Given the description of an element on the screen output the (x, y) to click on. 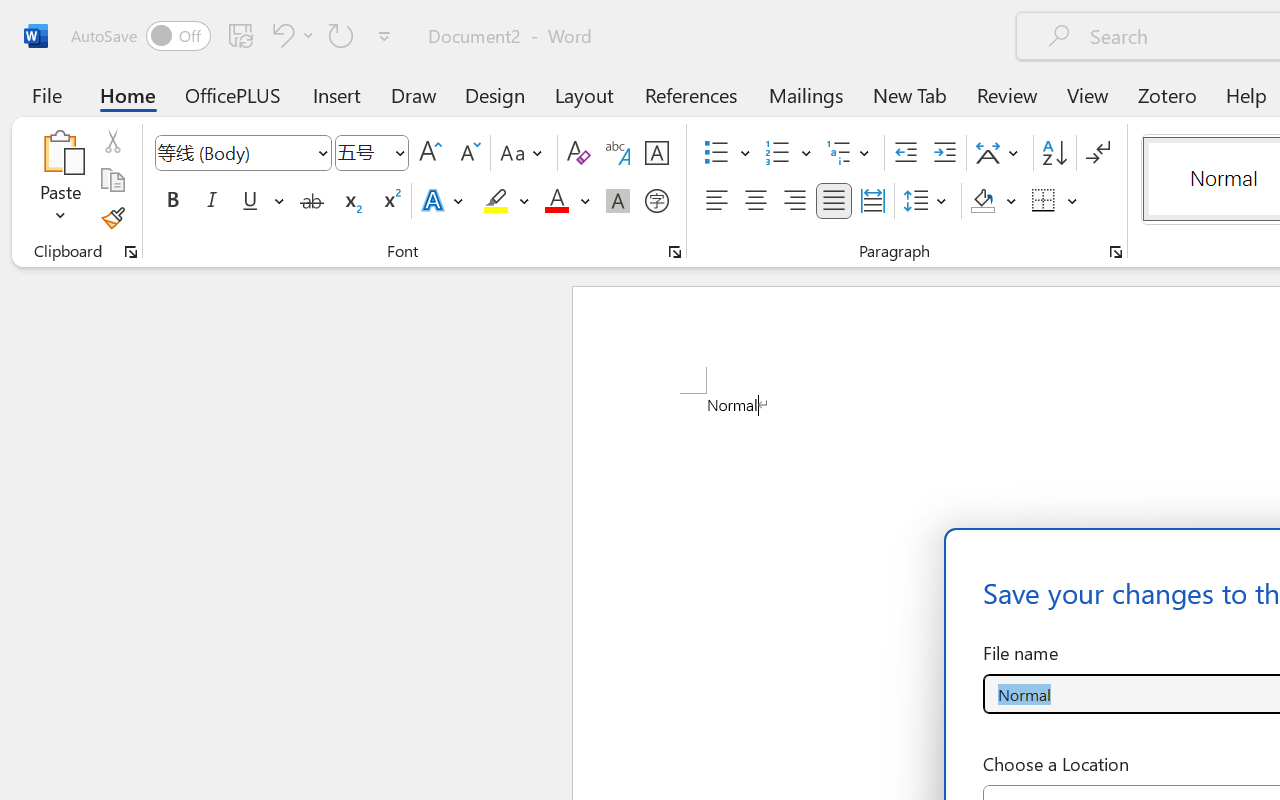
Paste (60, 179)
Layout (584, 94)
Clear Formatting (578, 153)
Grow Font (430, 153)
Enclose Characters... (656, 201)
Numbering (778, 153)
Borders (1044, 201)
Numbering (788, 153)
File Tab (46, 94)
Shading (993, 201)
Phonetic Guide... (618, 153)
Customize Quick Access Toolbar (384, 35)
Save (241, 35)
Bullets (716, 153)
